Given the description of an element on the screen output the (x, y) to click on. 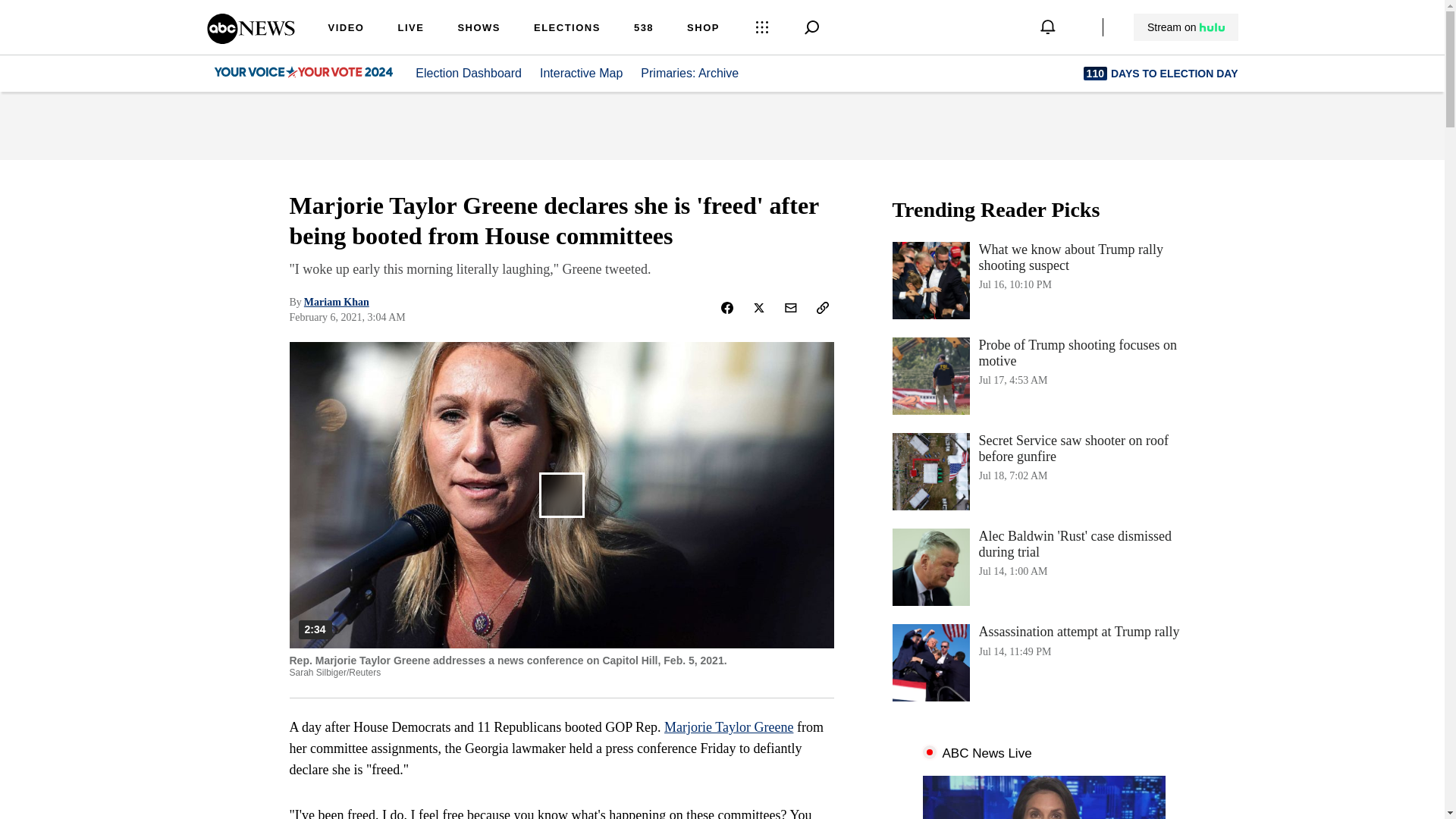
538 (1043, 375)
ABC News (643, 28)
Stream on (250, 38)
Interactive Map (1043, 662)
Primaries: Archive (1185, 27)
SHOWS (581, 73)
LIVE (698, 73)
Stream on (478, 28)
ELECTIONS (410, 28)
SHOP (1186, 26)
